Given the description of an element on the screen output the (x, y) to click on. 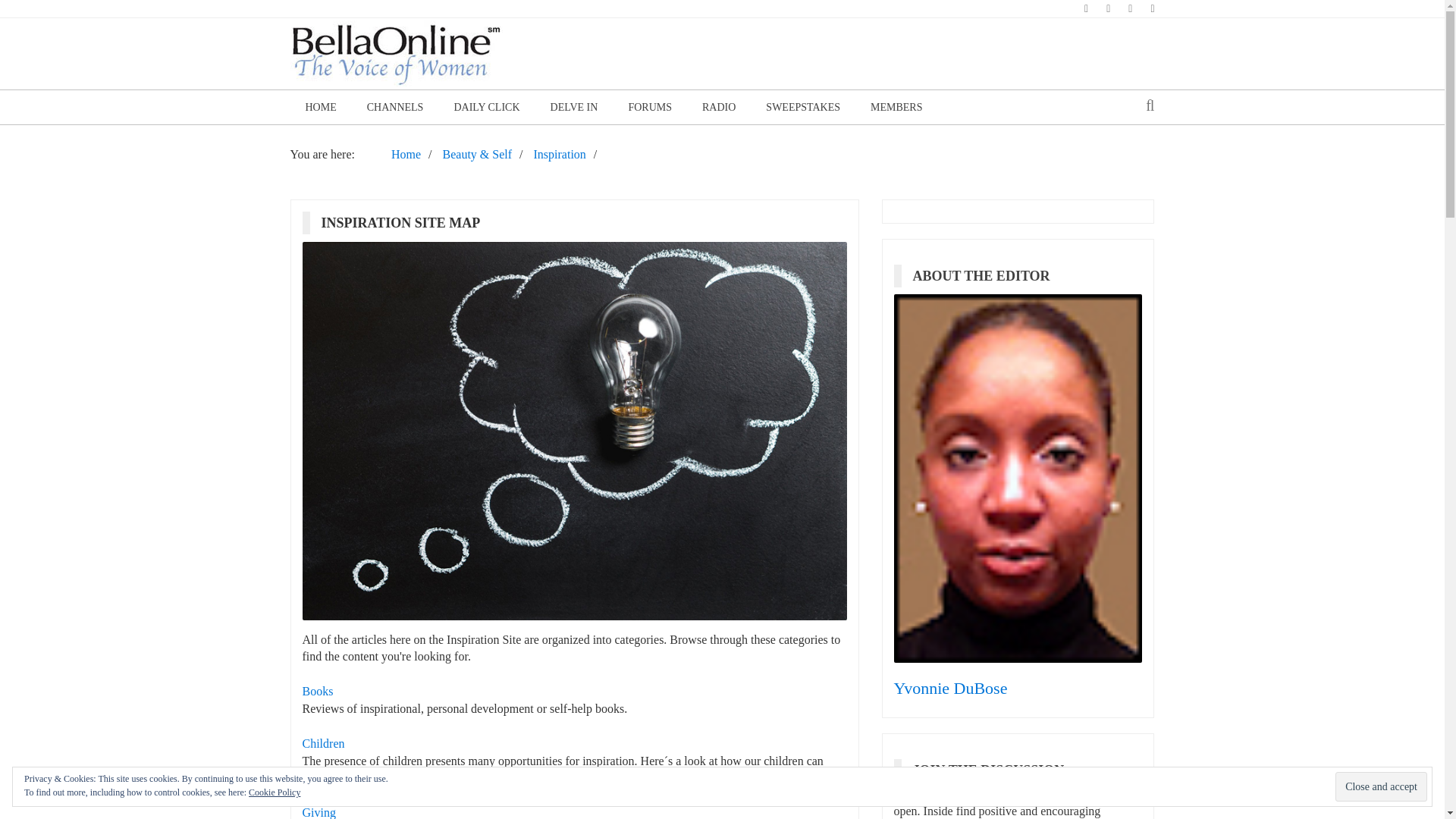
DAILY CLICK (486, 107)
RADIO (719, 107)
HOME (319, 107)
Close and accept (1380, 786)
SWEEPSTAKES (803, 107)
DELVE IN (573, 107)
FORUMS (649, 107)
CHANNELS (395, 107)
